Given the description of an element on the screen output the (x, y) to click on. 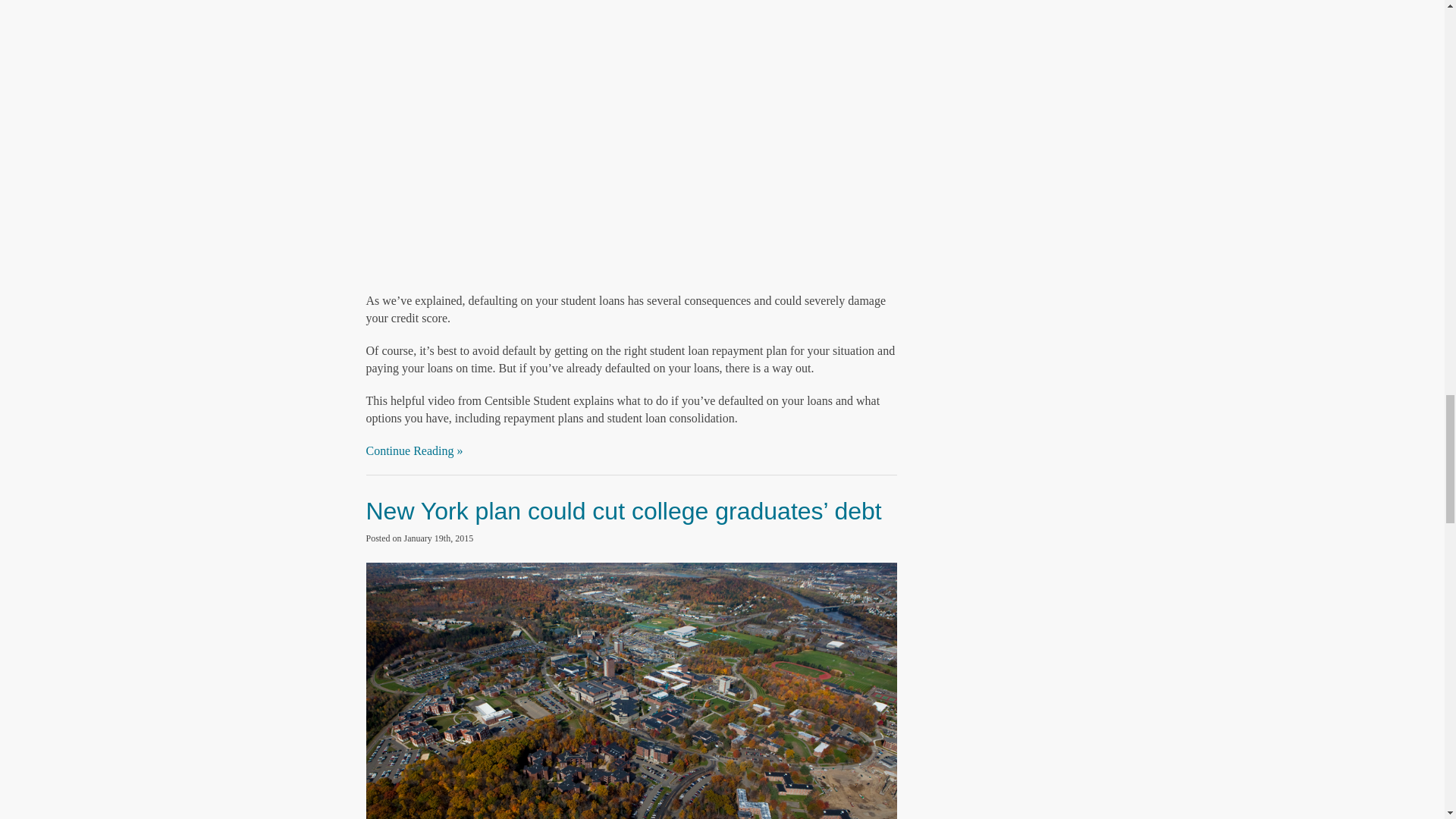
Read more (622, 510)
